Given the description of an element on the screen output the (x, y) to click on. 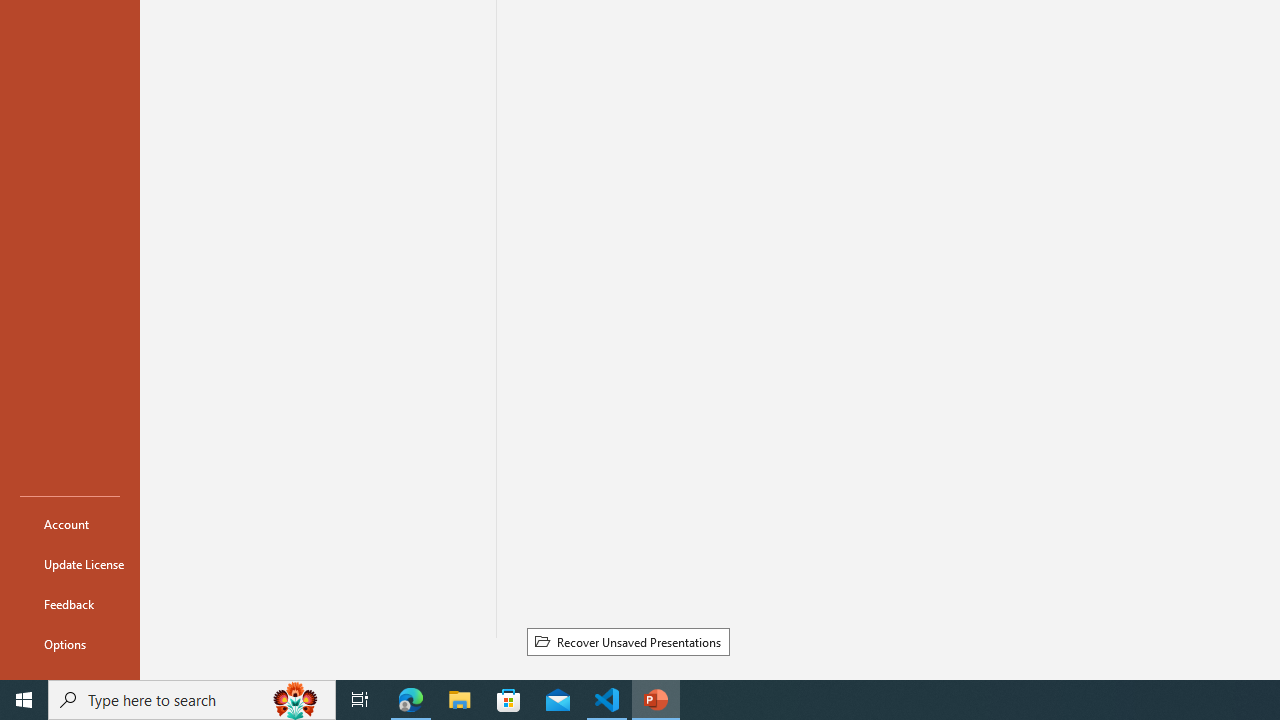
Options (69, 643)
Update License (69, 563)
Recover Unsaved Presentations (628, 641)
Account (69, 523)
Feedback (69, 603)
